Given the description of an element on the screen output the (x, y) to click on. 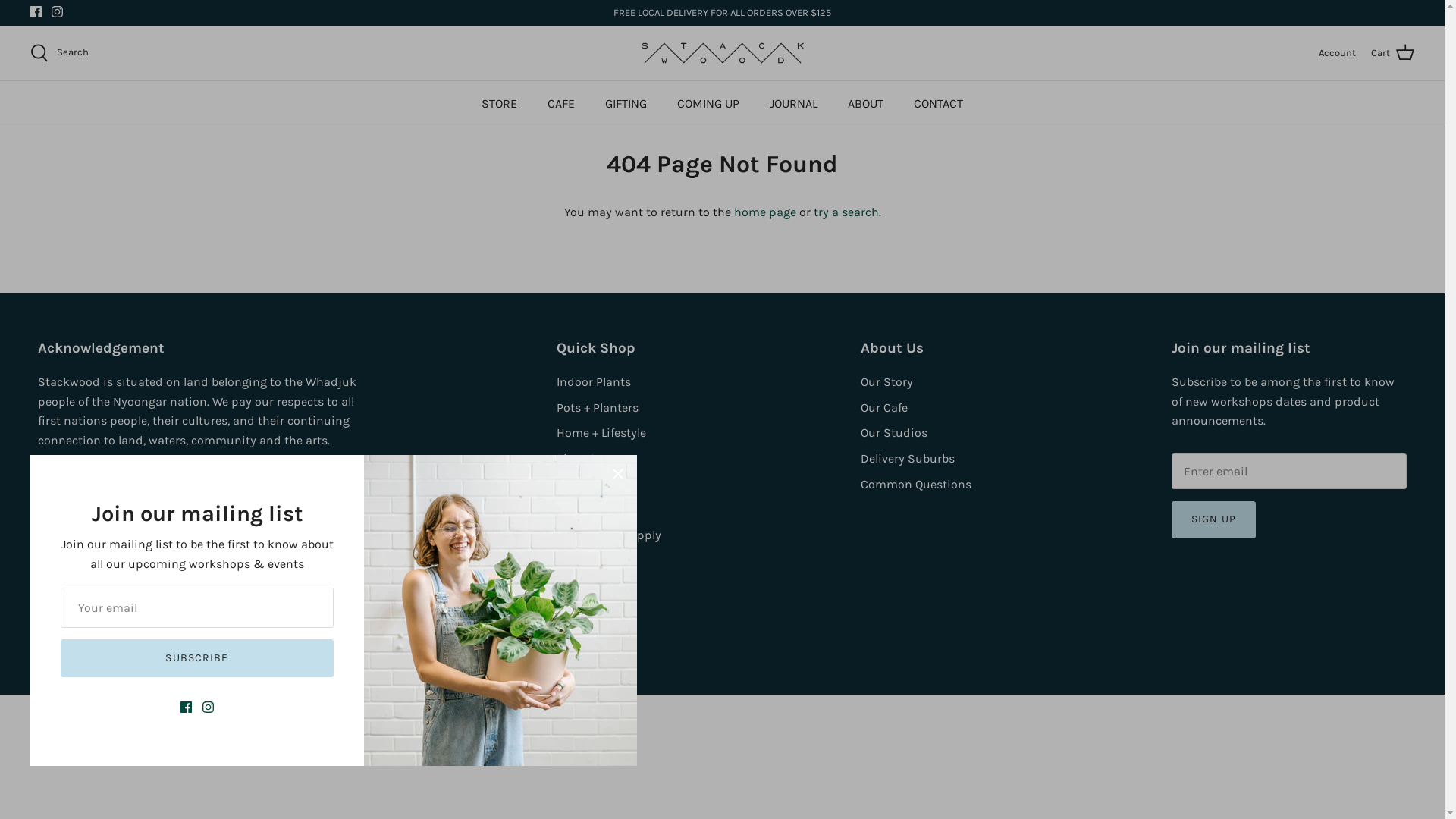
ABOUT Element type: text (865, 103)
Account Element type: text (1336, 53)
Plant Care Element type: text (584, 458)
Terms & Conditions Element type: text (340, 648)
COMING UP Element type: text (708, 103)
Our Story Element type: text (886, 381)
SUBSCRIBE Element type: text (196, 658)
SIGN UP Element type: text (1213, 520)
Our Studios Element type: text (893, 432)
Indoor Plants Element type: text (593, 381)
Facebook Element type: text (35, 11)
Delivery Suburbs Element type: text (907, 458)
Search Element type: text (59, 52)
CAFE Element type: text (560, 103)
Rae Fallon Element type: text (141, 502)
Stackwood Element type: text (98, 648)
Pots + Planters Element type: text (597, 407)
STORE Element type: text (498, 103)
Privacy Policy Element type: text (256, 648)
Instagram Element type: text (56, 11)
Common Questions Element type: text (915, 483)
Home + Lifestyle Element type: text (601, 432)
Stackwood Supply Element type: text (608, 534)
JOURNAL Element type: text (793, 103)
Stackwood Element type: hover (721, 52)
GIFTING Element type: text (625, 103)
home page Element type: text (765, 211)
FREE LOCAL DELIVERY FOR ALL ORDERS OVER $125 Element type: text (722, 12)
Workshops Element type: text (587, 483)
CONTACT Element type: text (938, 103)
try a search Element type: text (845, 211)
Gift Bundles Element type: text (590, 509)
Cart Element type: text (1392, 52)
Our Cafe Element type: text (883, 407)
